Given the description of an element on the screen output the (x, y) to click on. 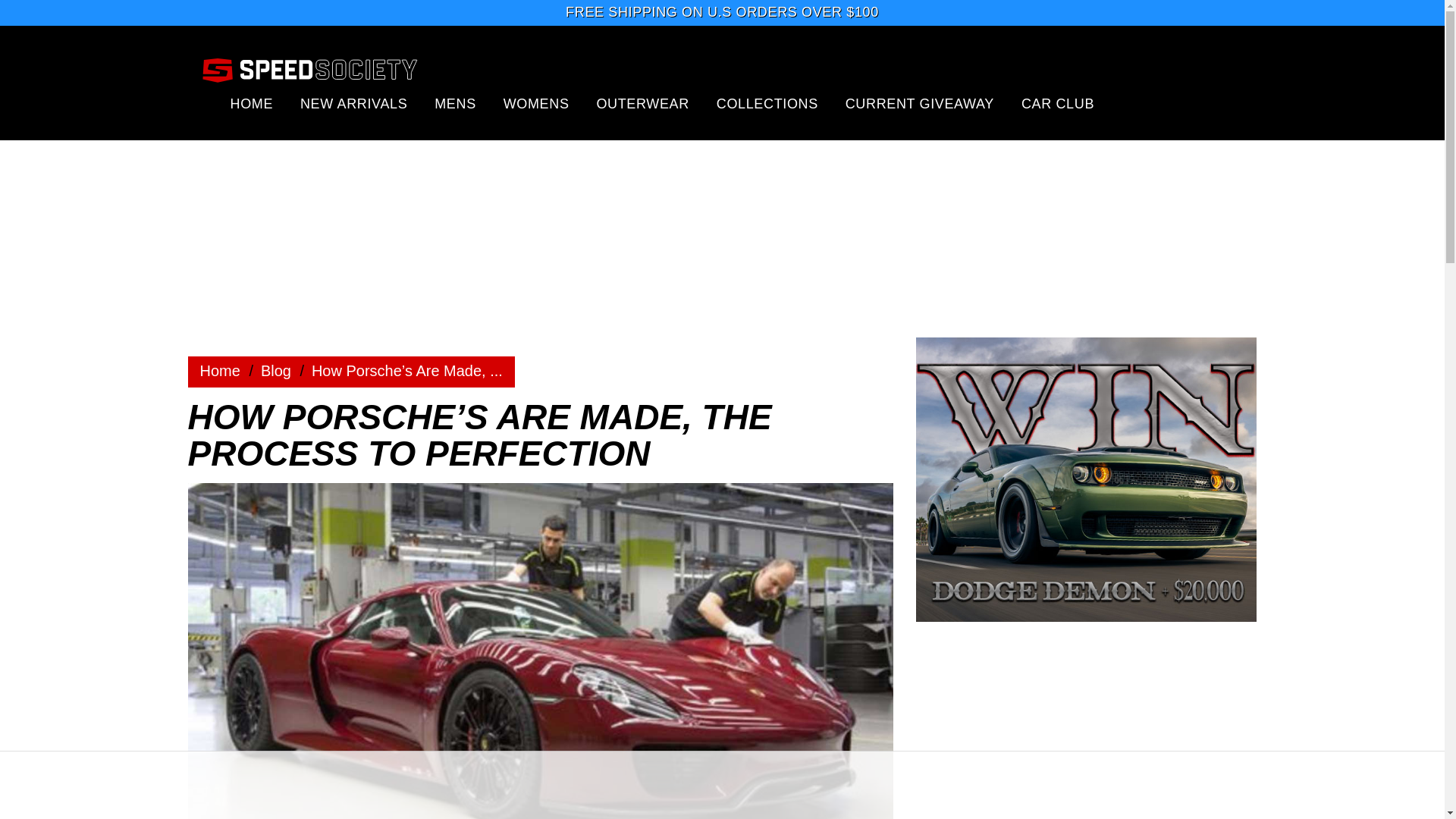
Home (220, 370)
Blog (275, 370)
CAR CLUB (1058, 103)
NEW ARRIVALS (353, 103)
Home (220, 370)
CURRENT GIVEAWAY (919, 103)
COLLECTIONS (767, 103)
MENS (454, 103)
HOME (251, 103)
speed society logo (308, 69)
OUTERWEAR (641, 103)
Home (275, 370)
WOMENS (536, 103)
